Given the description of an element on the screen output the (x, y) to click on. 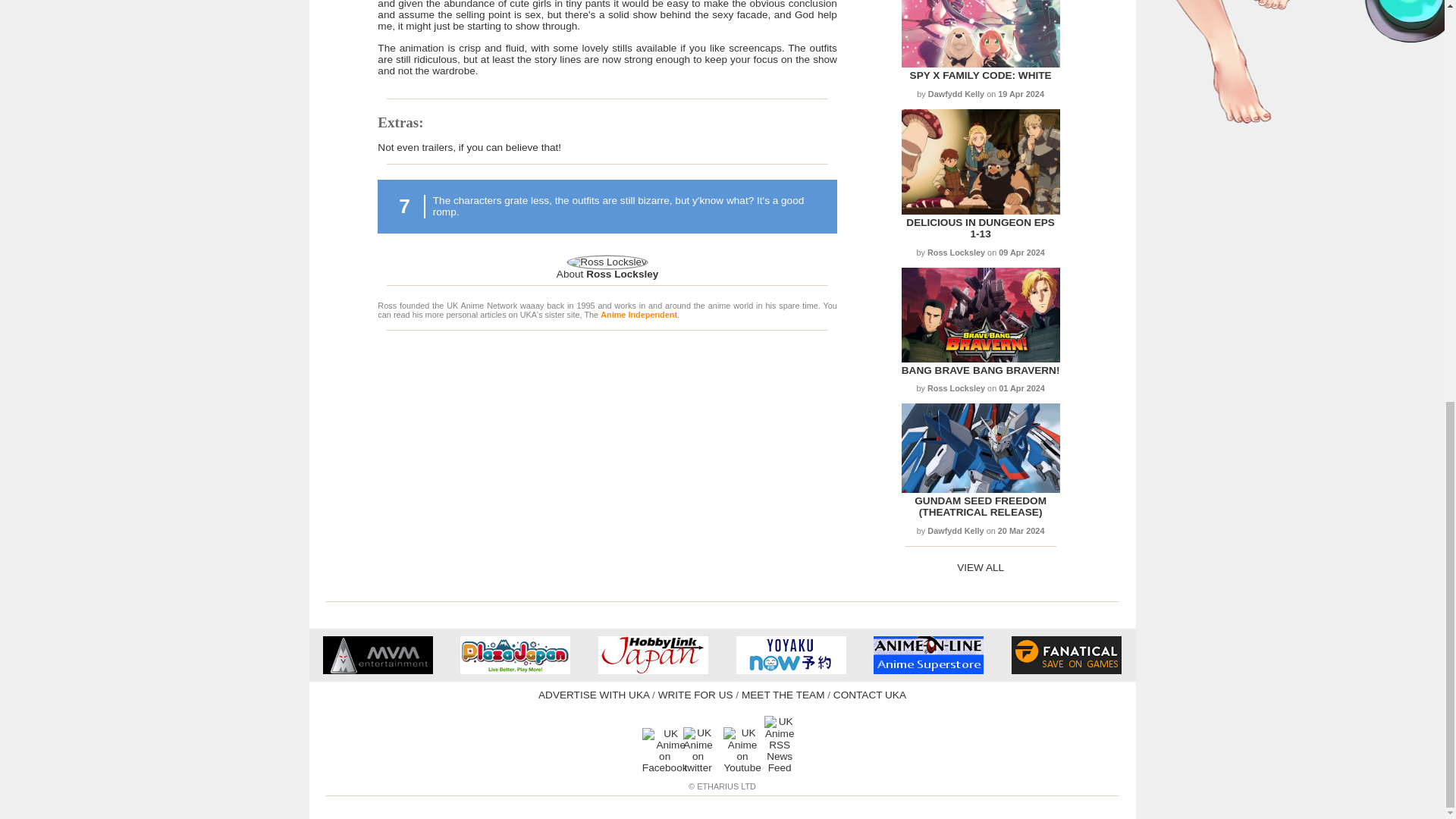
Bang Brave Bang Bravern! (980, 358)
Ross Locksley (607, 274)
Spy X Family Code: White (980, 75)
About Ross Locksley (607, 274)
Delicious in Dungeon eps 1-13 (979, 228)
DELICIOUS IN DUNGEON EPS 1-13 (979, 228)
Anime Independent (638, 314)
VIEW ALL (980, 567)
The Anime Independent (638, 314)
SPY X FAMILY CODE: WHITE (980, 75)
BANG BRAVE BANG BRAVERN! (980, 369)
Delicious in Dungeon eps 1-13 (980, 211)
Spy X Family Code: White (980, 63)
